Given the description of an element on the screen output the (x, y) to click on. 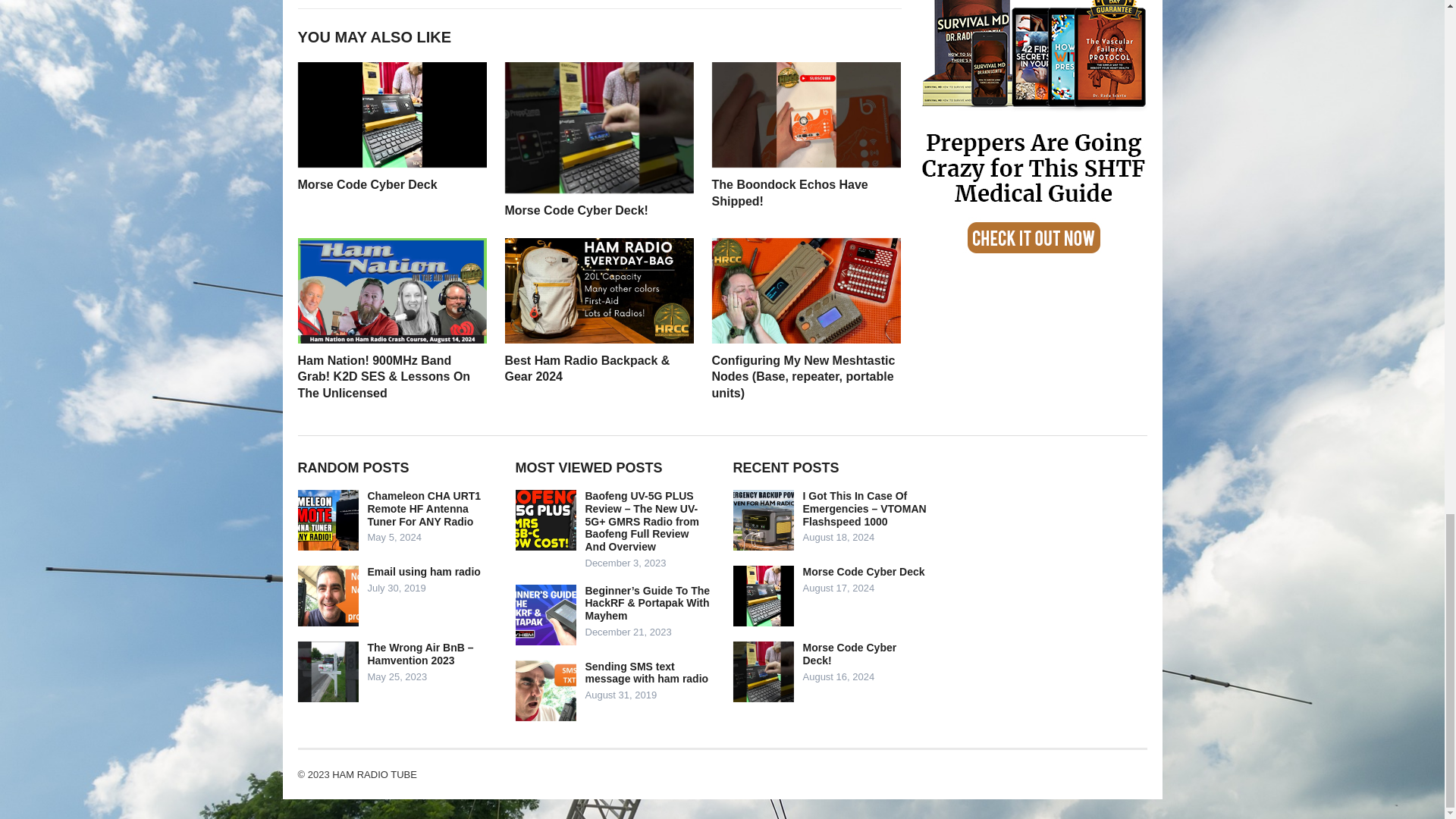
Morse Code Cyber Deck 2 (391, 114)
The Boondock Echos Have Shipped! 6 (805, 114)
Morse Code Cyber Deck! 4 (599, 127)
